Given the description of an element on the screen output the (x, y) to click on. 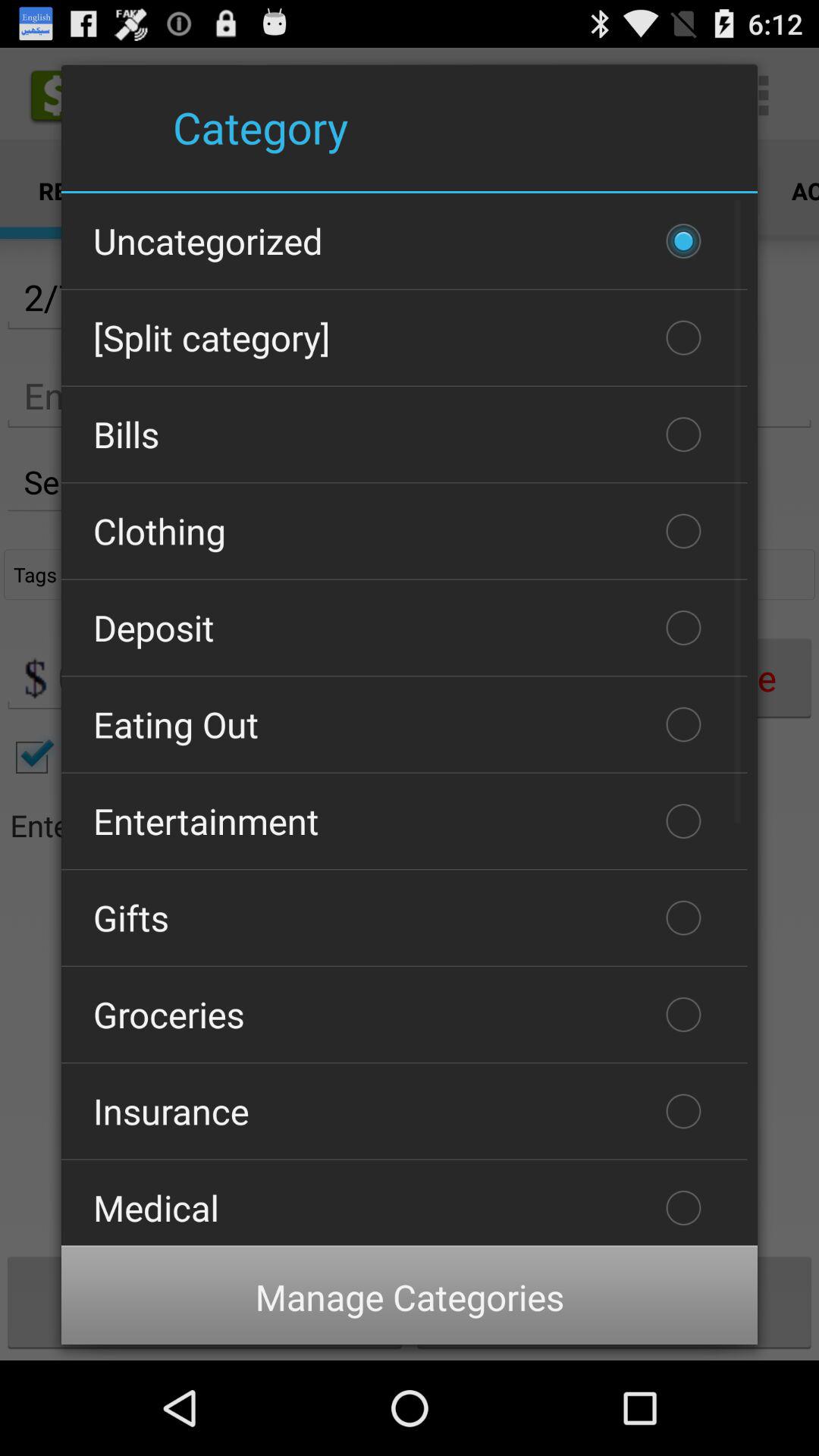
launch icon above the [split category] checkbox (404, 240)
